Given the description of an element on the screen output the (x, y) to click on. 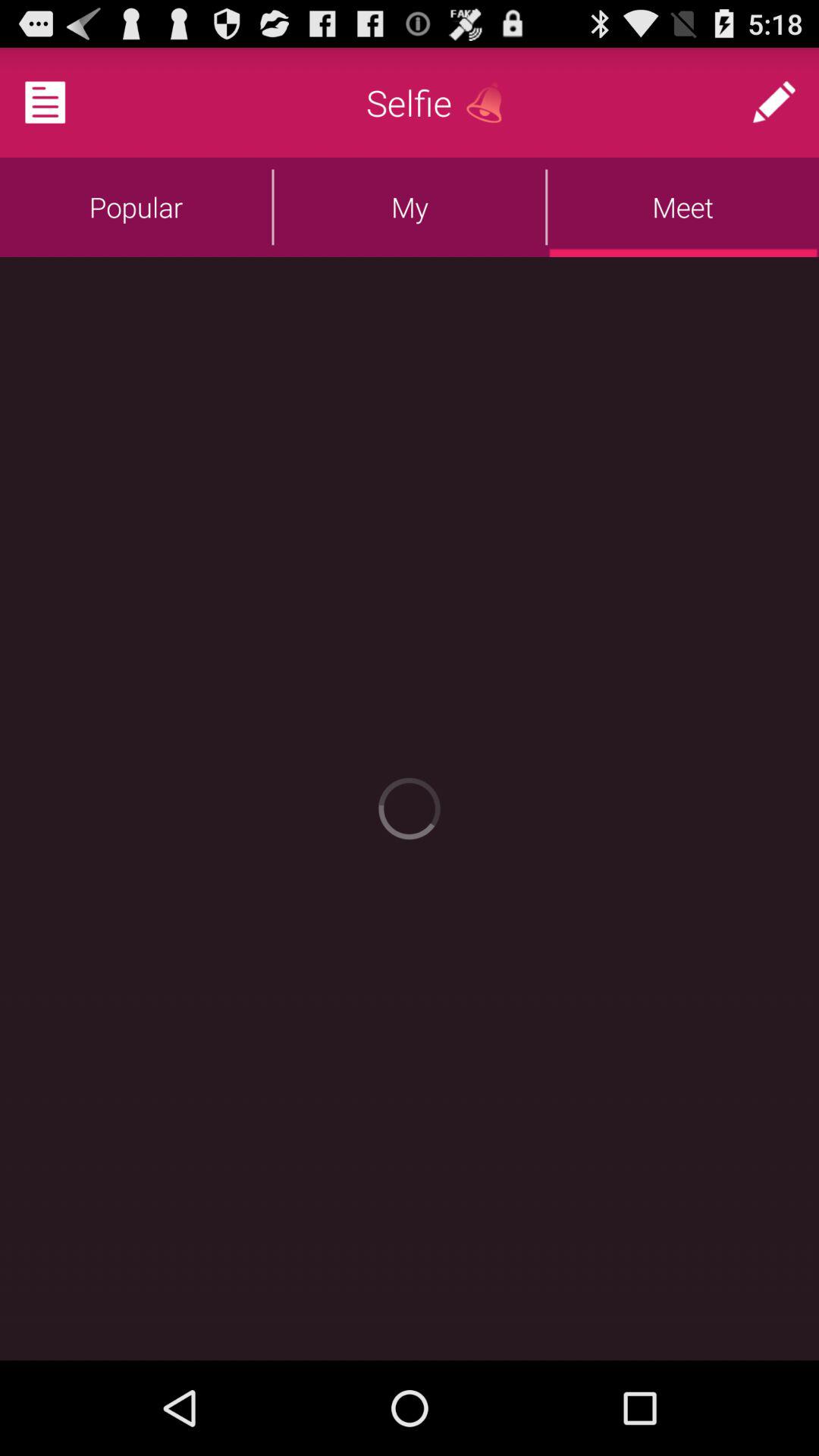
alarm bell option (489, 102)
